Given the description of an element on the screen output the (x, y) to click on. 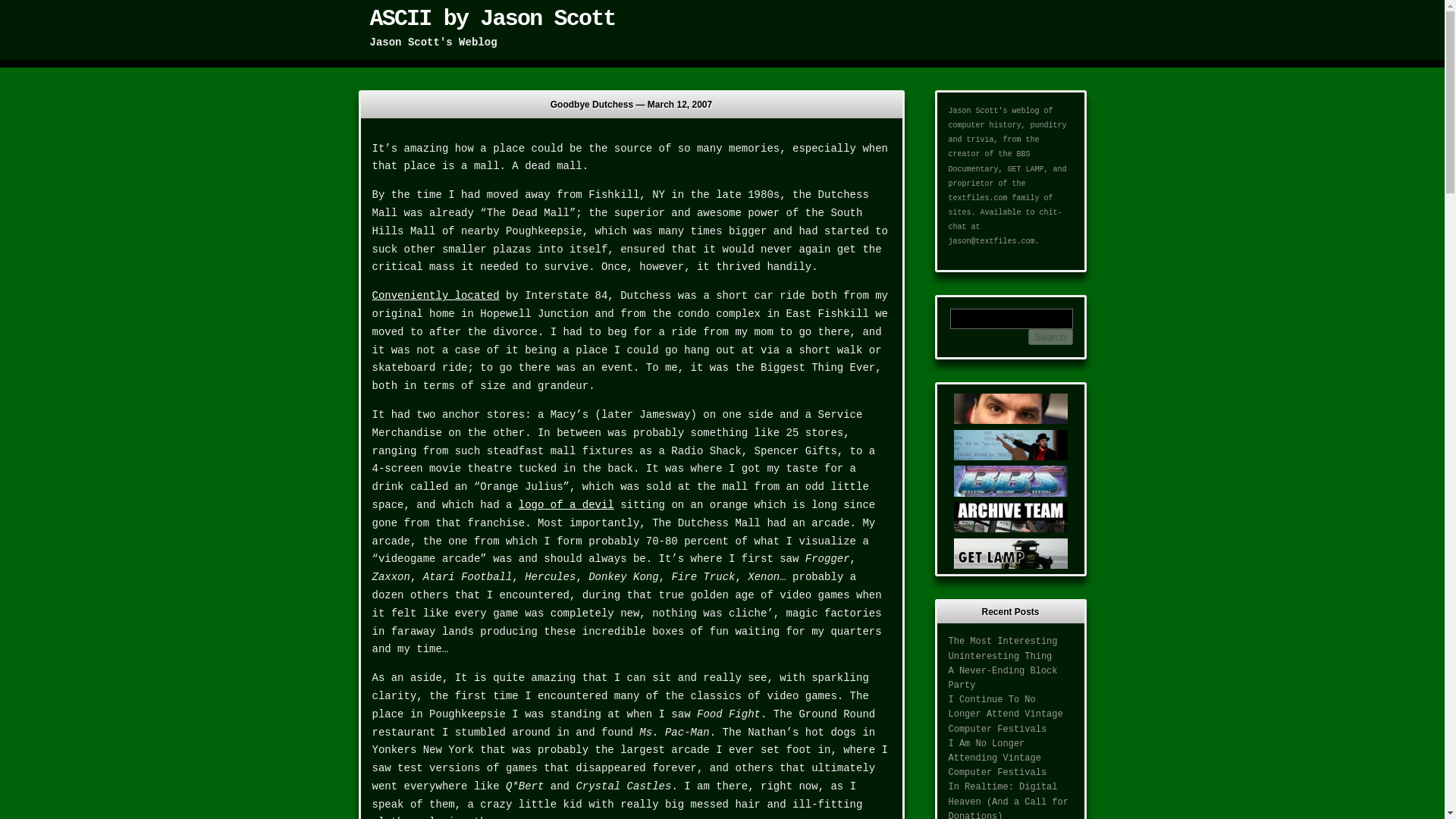
textfiles.com (977, 198)
ASCII by Jason Scott (492, 18)
Conveniently located (435, 295)
Search (1049, 336)
GET LAMP (1025, 169)
Recent Posts (1010, 612)
logo of a devil (566, 504)
Search (1049, 336)
BBS Documentary (988, 160)
